Given the description of an element on the screen output the (x, y) to click on. 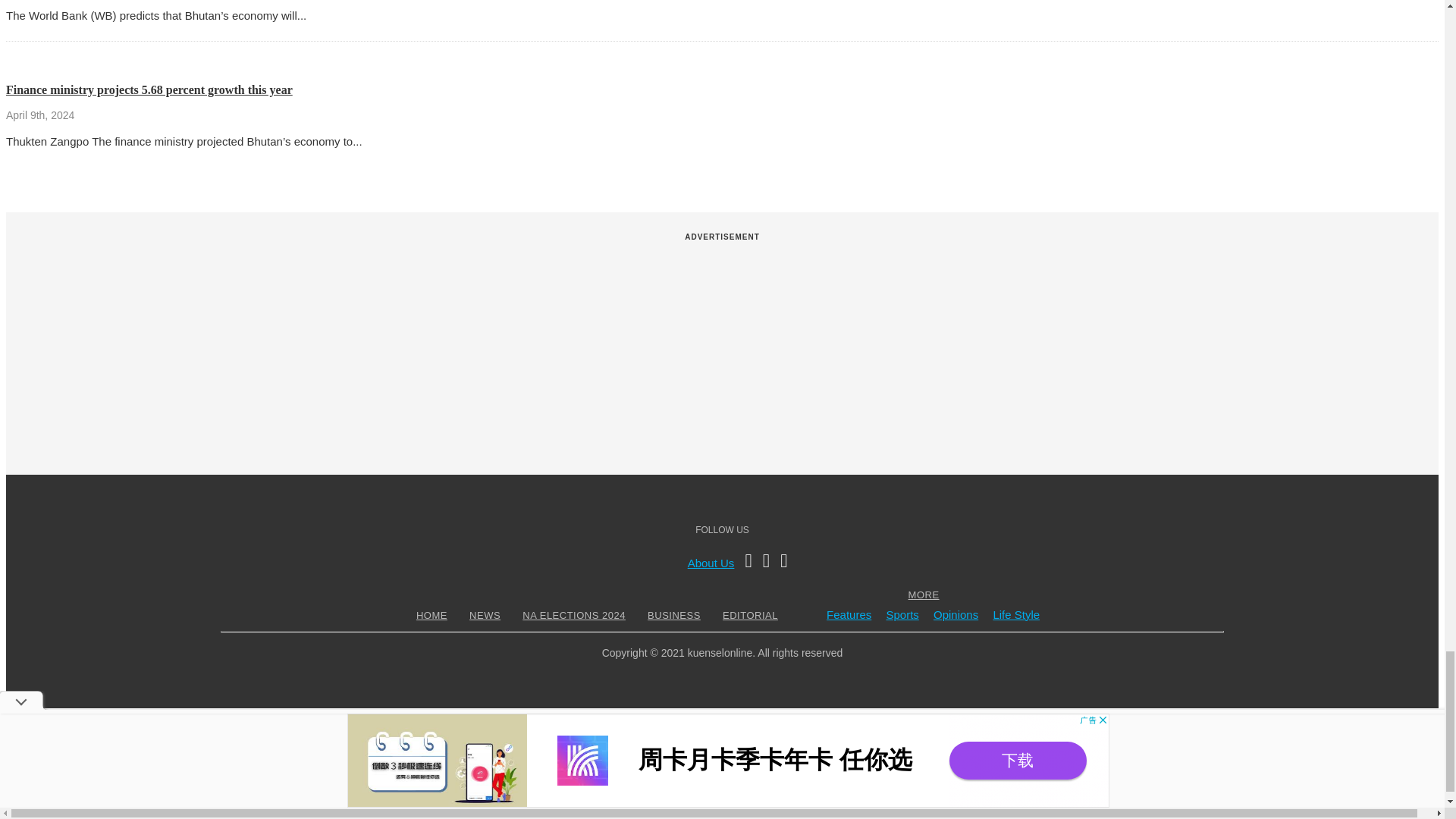
HOME (431, 614)
EDITORIAL (750, 614)
NA ELECTIONS 2024 (573, 614)
BUSINESS (673, 614)
About Us (711, 562)
MORE (923, 594)
NEWS (484, 614)
Finance ministry projects 5.68 percent growth this year (148, 89)
